Given the description of an element on the screen output the (x, y) to click on. 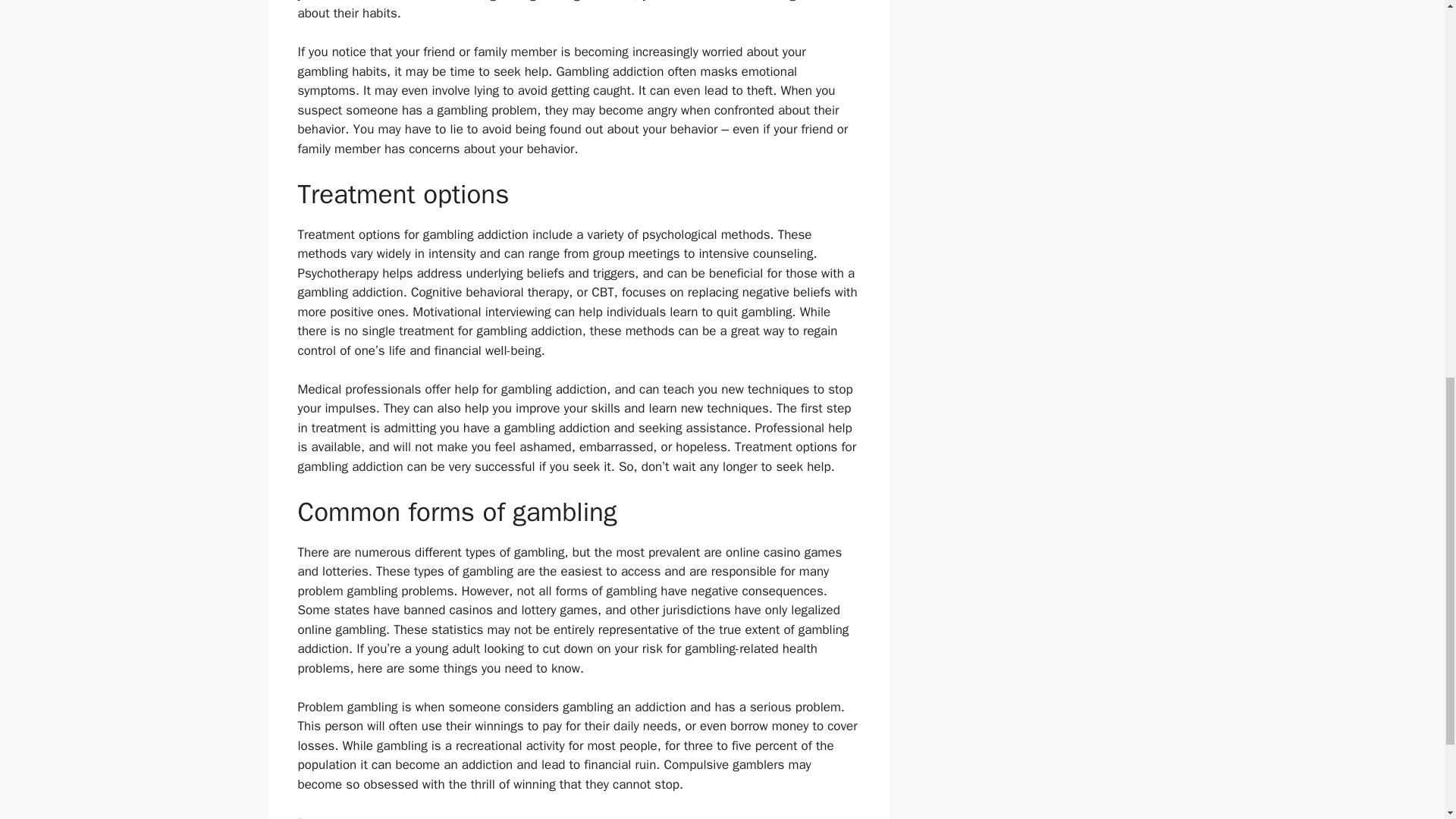
Gambling News (351, 817)
